Given the description of an element on the screen output the (x, y) to click on. 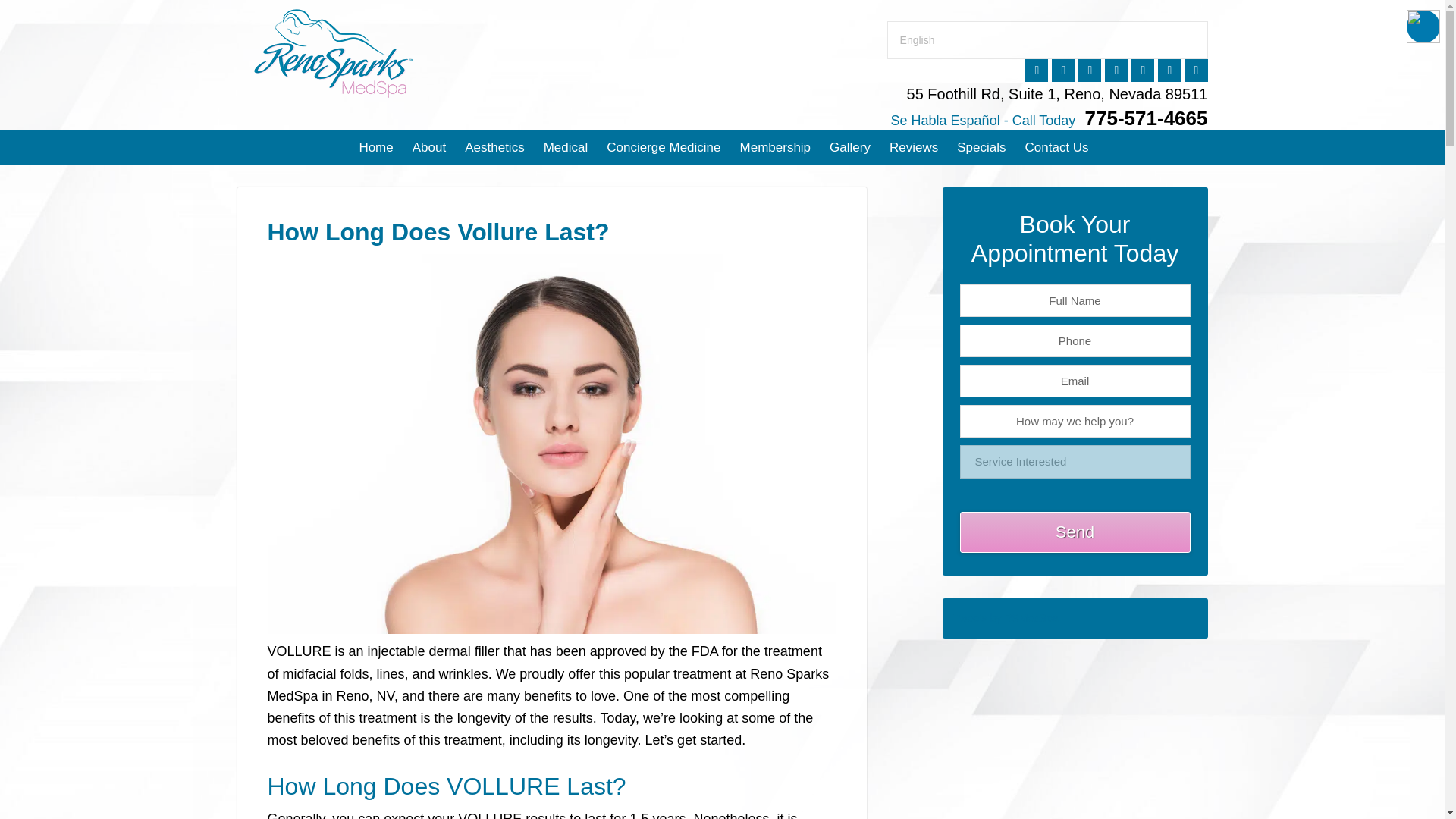
About (428, 147)
Send (1075, 531)
RENO SPARKS MEDSPA (387, 52)
Aesthetics (493, 147)
55 Foothill Rd, Suite 1, Reno, Nevada 89511 (1057, 93)
Accessibility Menu (1422, 26)
Home (375, 147)
How Long Does Vollure Last? (550, 629)
